Given the description of an element on the screen output the (x, y) to click on. 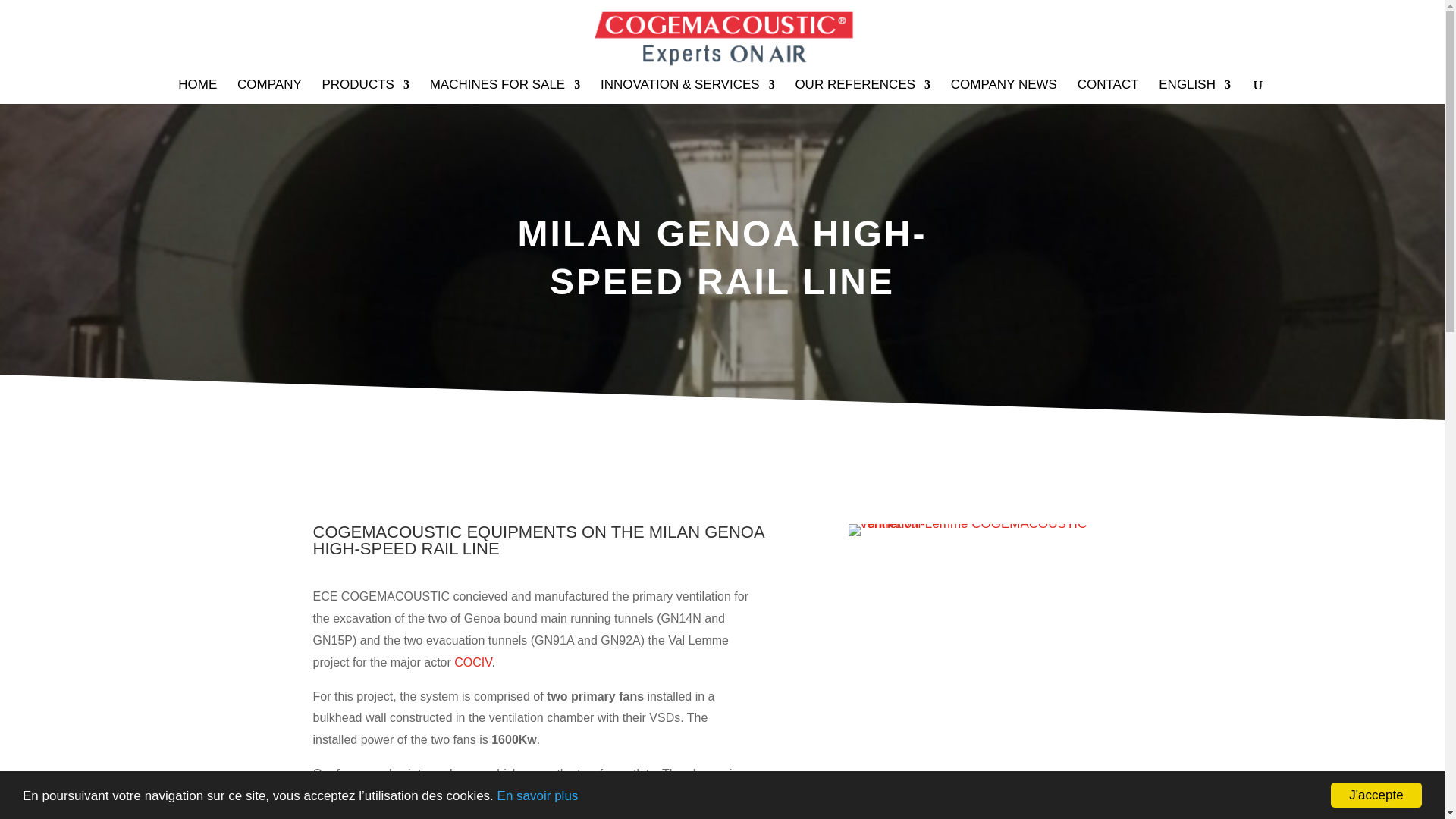
CONTACT (1107, 91)
MACHINES FOR SALE (504, 91)
English (1194, 91)
PRODUCTS (365, 91)
COMPANY (269, 91)
HOME (196, 91)
OUR REFERENCES (862, 91)
COMPANY NEWS (1003, 91)
ENGLISH (1194, 91)
